Given the description of an element on the screen output the (x, y) to click on. 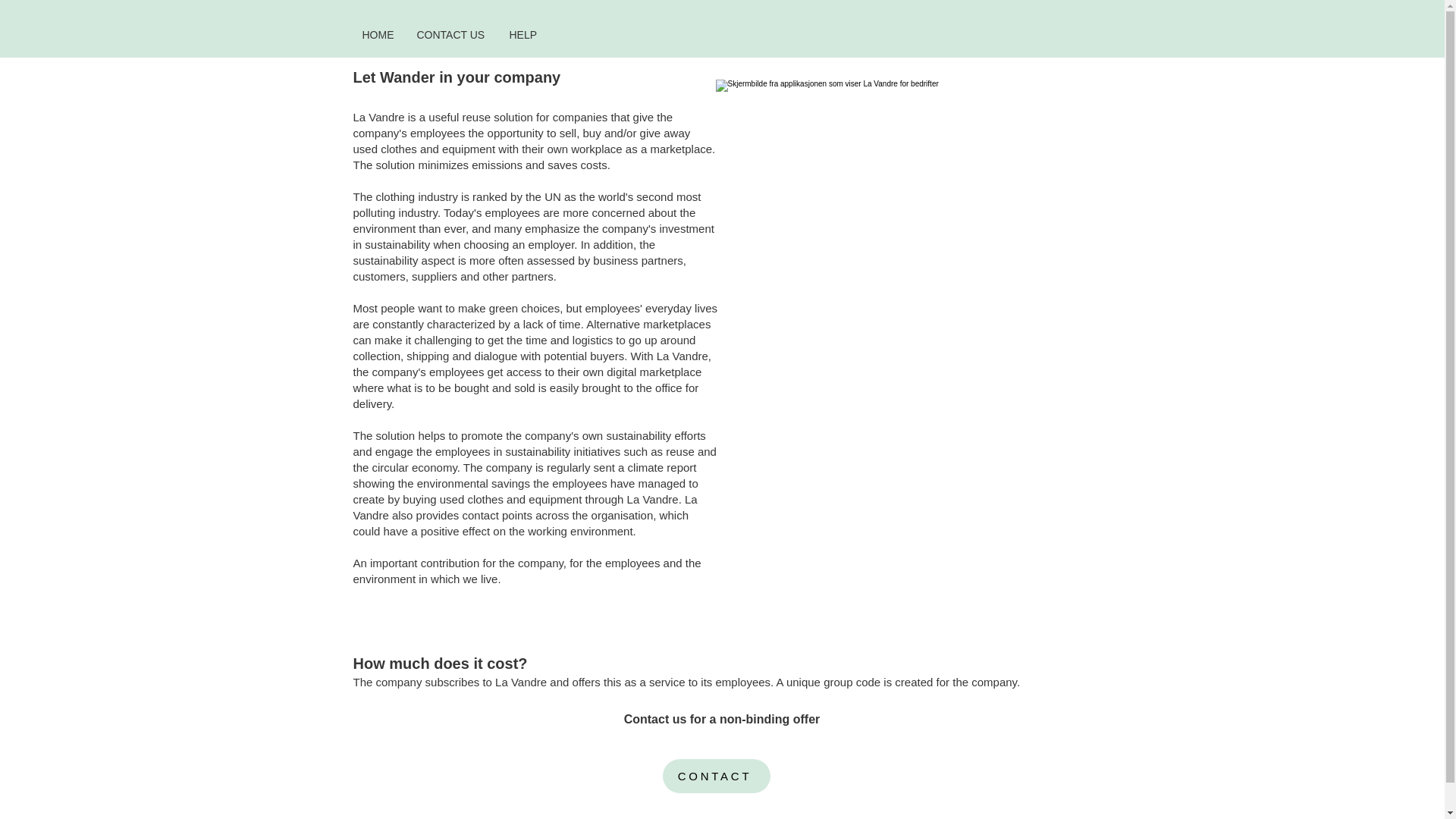
HELP (522, 34)
HOME (377, 34)
CONTACT US (450, 34)
CONTACT (716, 776)
